Given the description of an element on the screen output the (x, y) to click on. 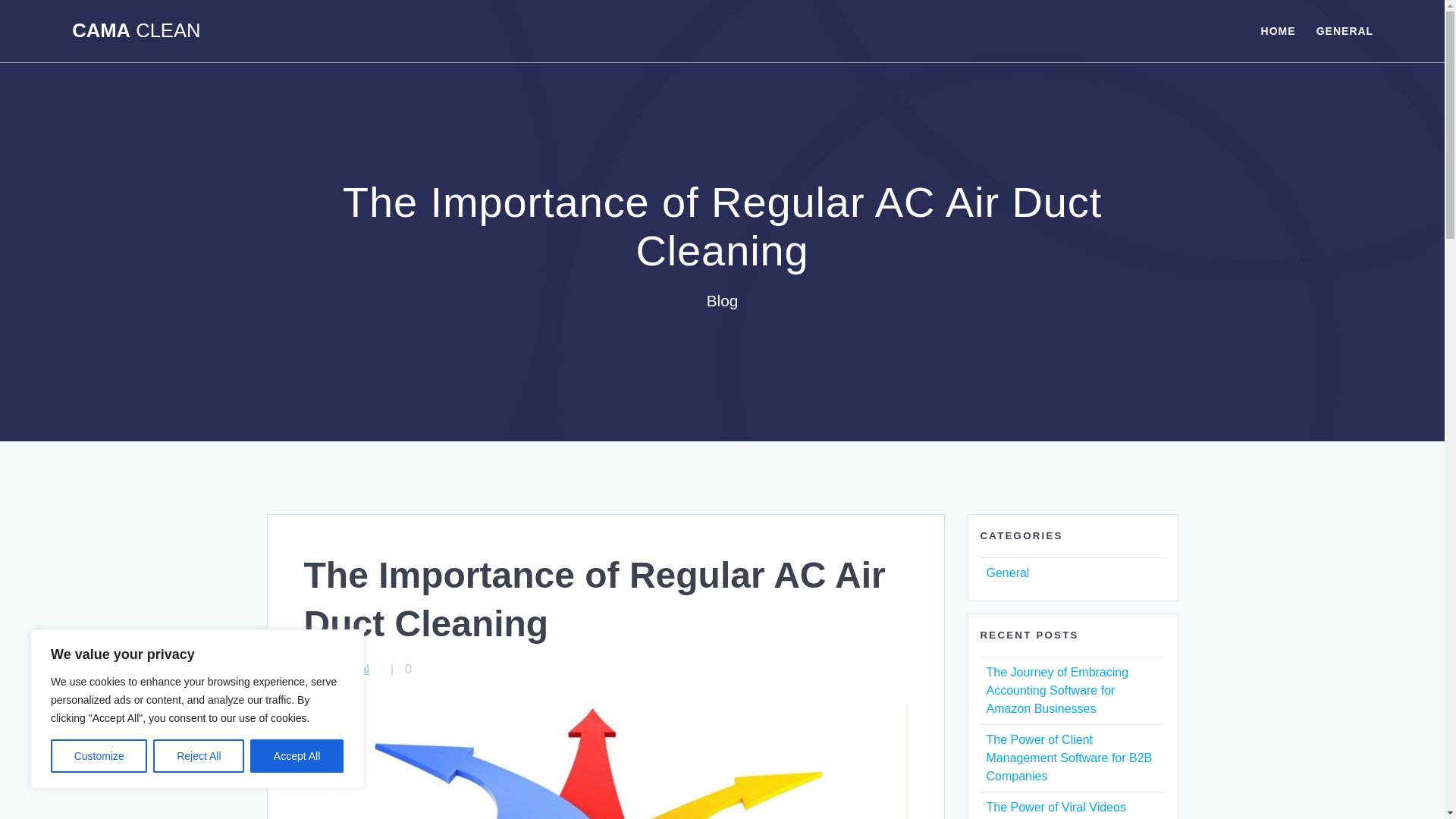
GENERAL (1344, 30)
The Power of Client Management Software for B2B Companies (1068, 757)
CAMA CLEAN (135, 30)
Accept All (296, 756)
HOME (1277, 30)
Customize (98, 756)
General (1007, 572)
General (347, 668)
The Power of Viral Videos (1055, 807)
Reject All (198, 756)
